Given the description of an element on the screen output the (x, y) to click on. 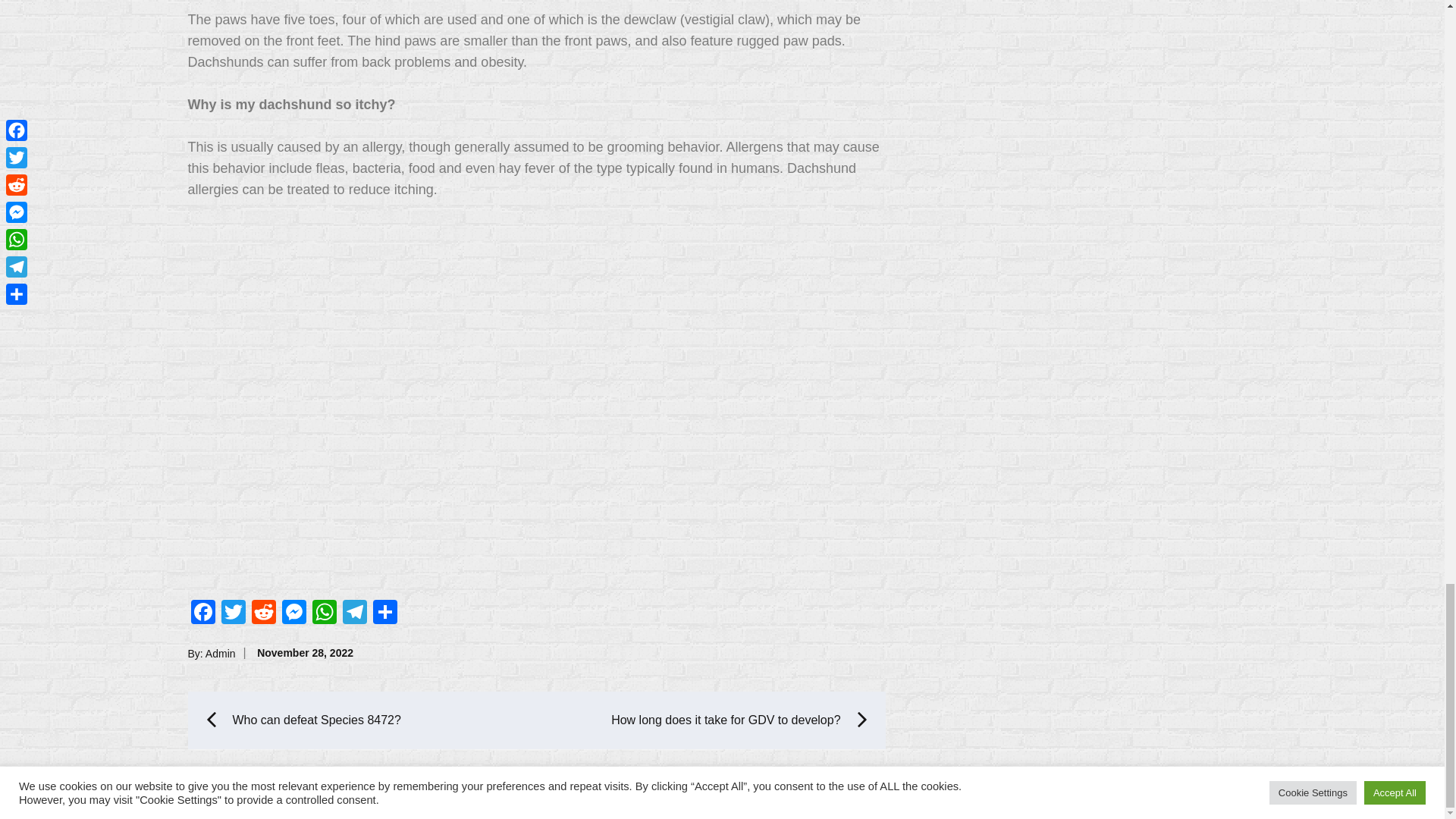
Share (384, 613)
Twitter (233, 613)
Facebook (202, 613)
Facebook (202, 613)
Reddit (263, 613)
Twitter (233, 613)
Reddit (263, 613)
Messenger (293, 613)
Telegram (354, 613)
WhatsApp (323, 613)
Messenger (293, 613)
November 28, 2022 (305, 653)
Admin (220, 653)
WhatsApp (323, 613)
Telegram (354, 613)
